Given the description of an element on the screen output the (x, y) to click on. 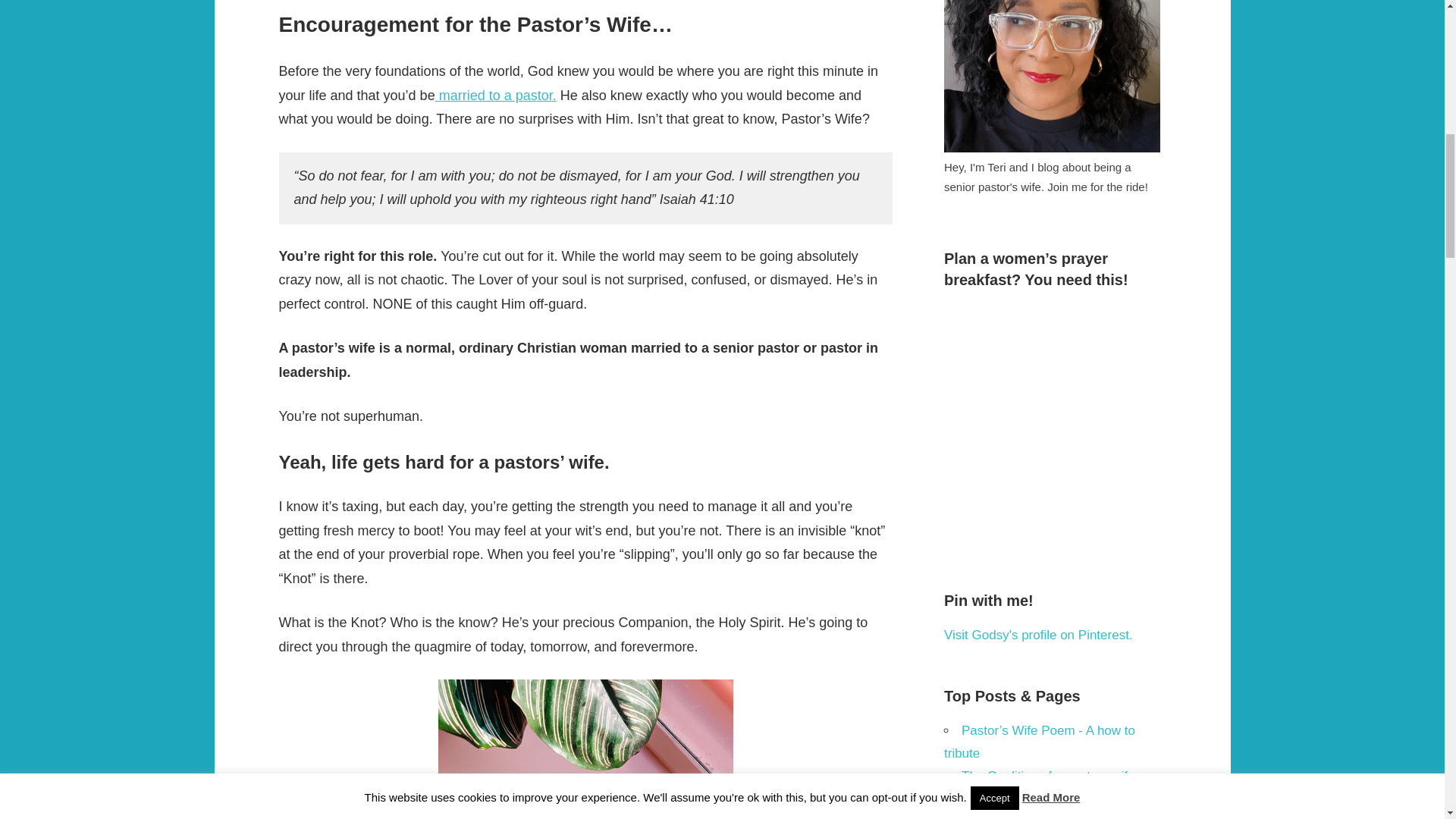
married to a pastor. (495, 95)
